Given the description of an element on the screen output the (x, y) to click on. 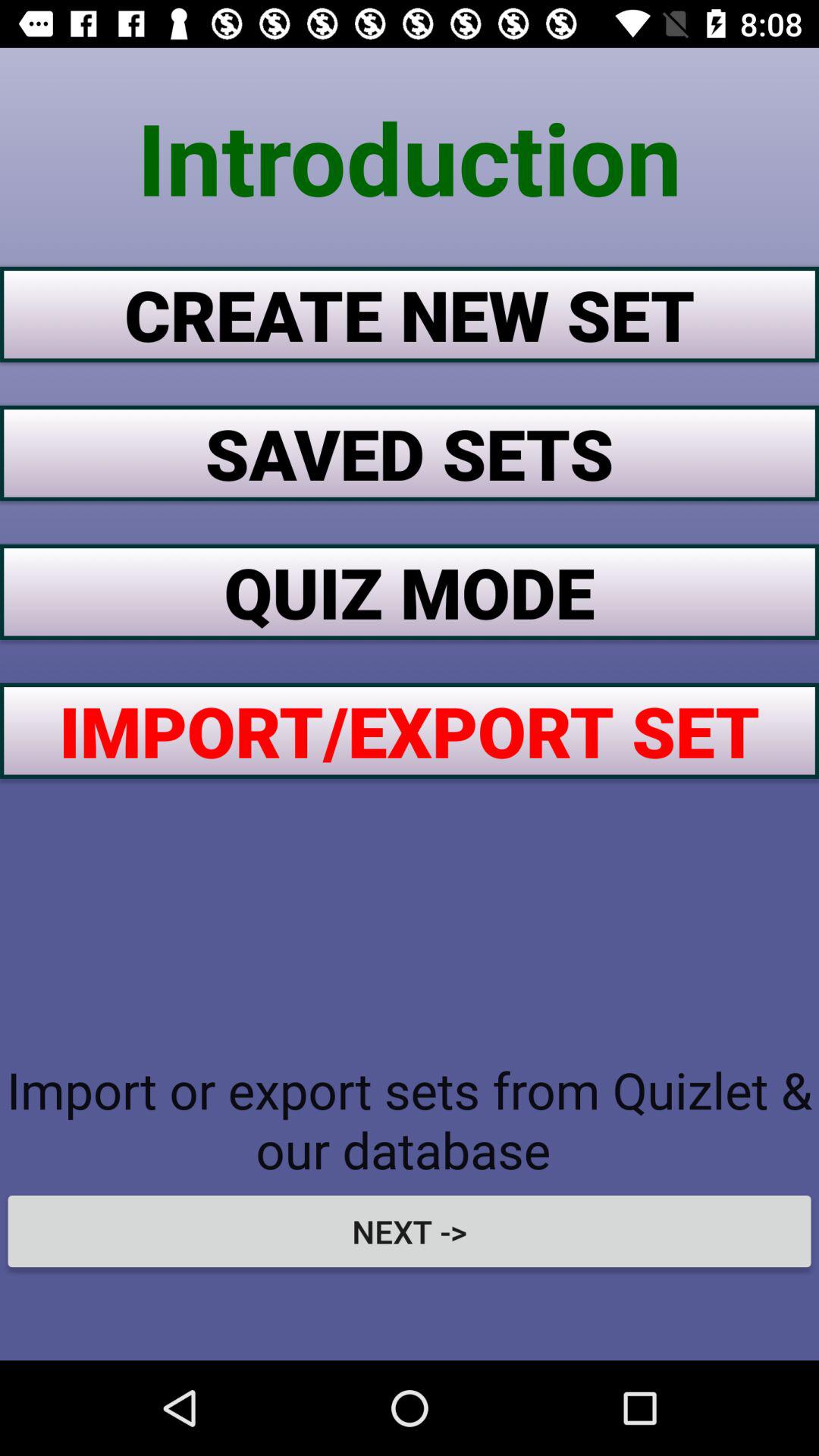
launch saved sets button (409, 453)
